Given the description of an element on the screen output the (x, y) to click on. 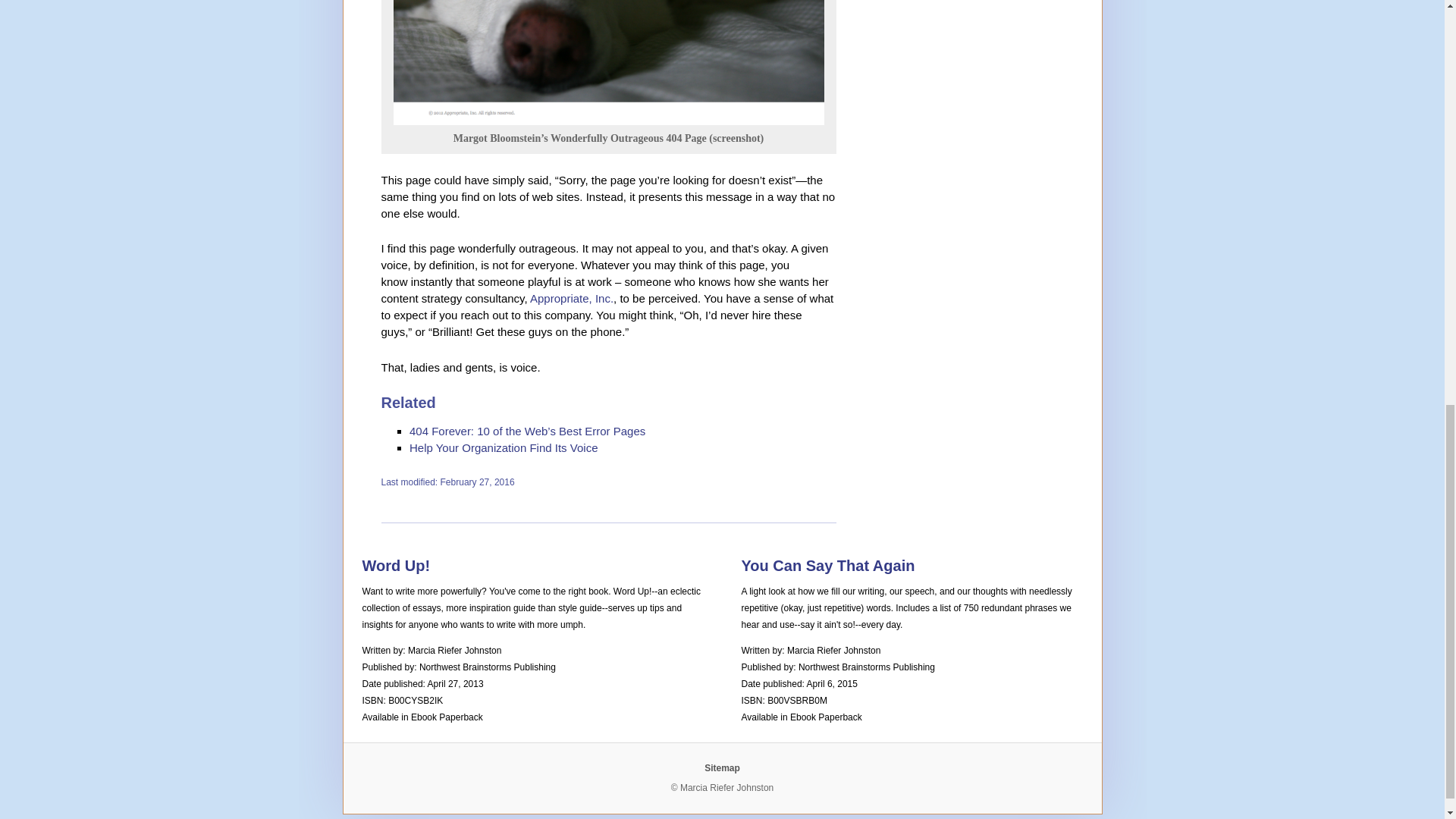
Writing.Rocks - Sitemap (721, 767)
